Given the description of an element on the screen output the (x, y) to click on. 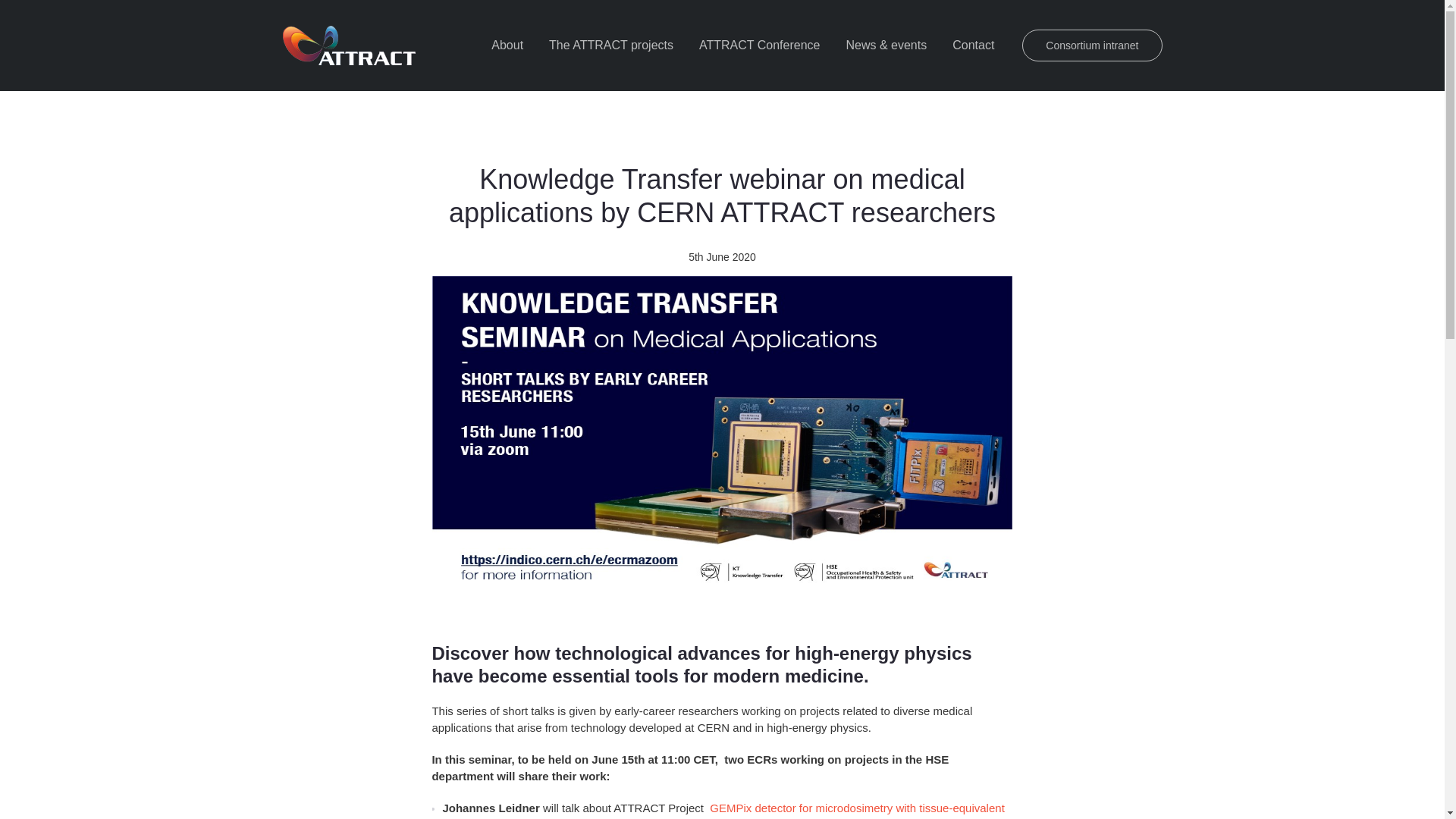
About (507, 45)
Contact (973, 45)
5th June 2020 (721, 256)
The ATTRACT projects (610, 45)
ATTRACT Conference (758, 45)
Consortium intranet (1091, 45)
